Given the description of an element on the screen output the (x, y) to click on. 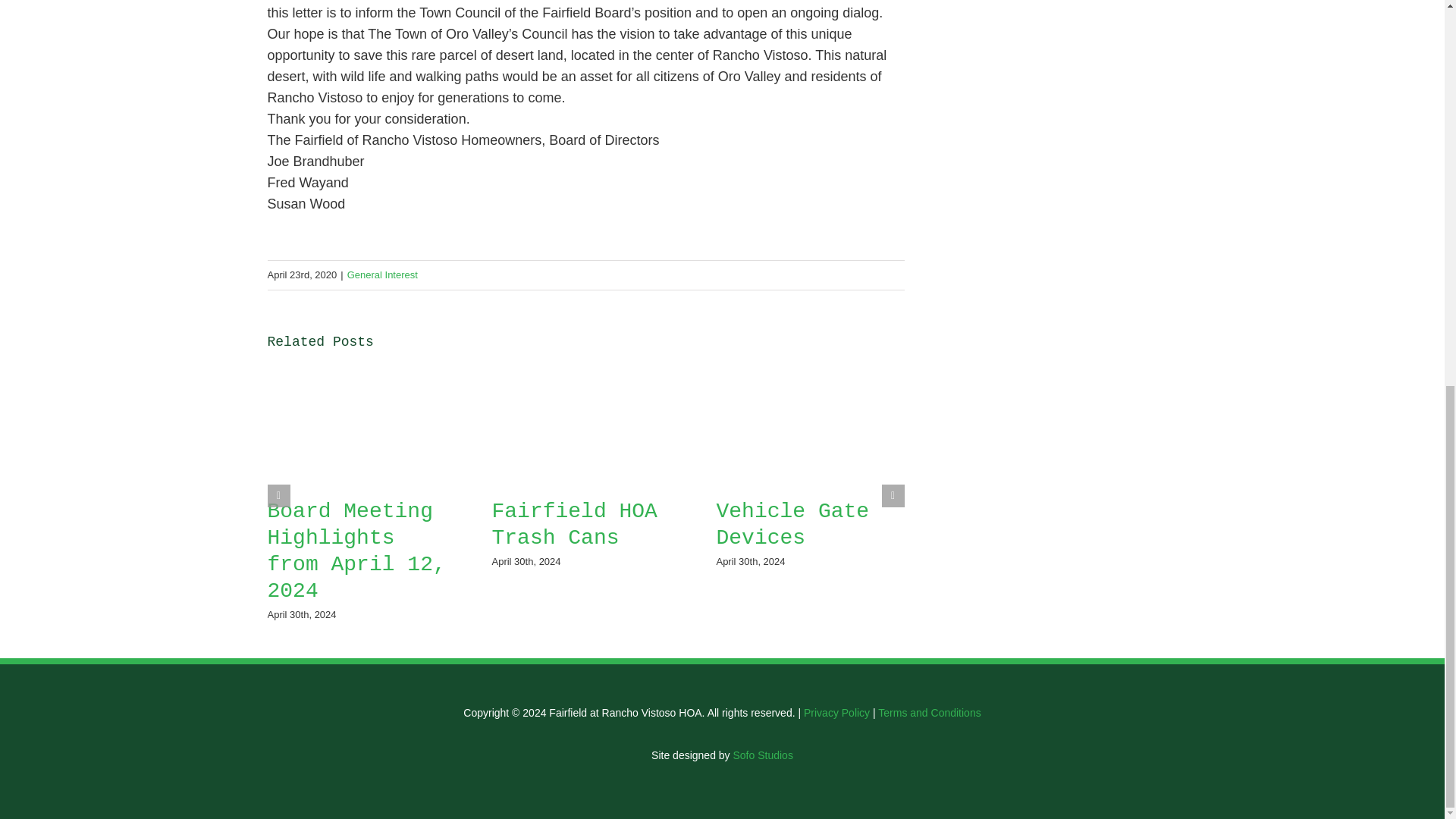
Vehicle Gate Devices (792, 524)
Board Meeting Highlights from April 12, 2024 (355, 550)
Sofo Studios (762, 755)
Fairfield HOA Trash Cans (574, 524)
Terms and Conditions (928, 712)
Board Meeting Highlights from April 12, 2024 (355, 550)
Fairfield HOA Trash Cans (574, 524)
Vehicle Gate Devices (792, 524)
General Interest (382, 274)
Privacy Policy (836, 712)
